Given the description of an element on the screen output the (x, y) to click on. 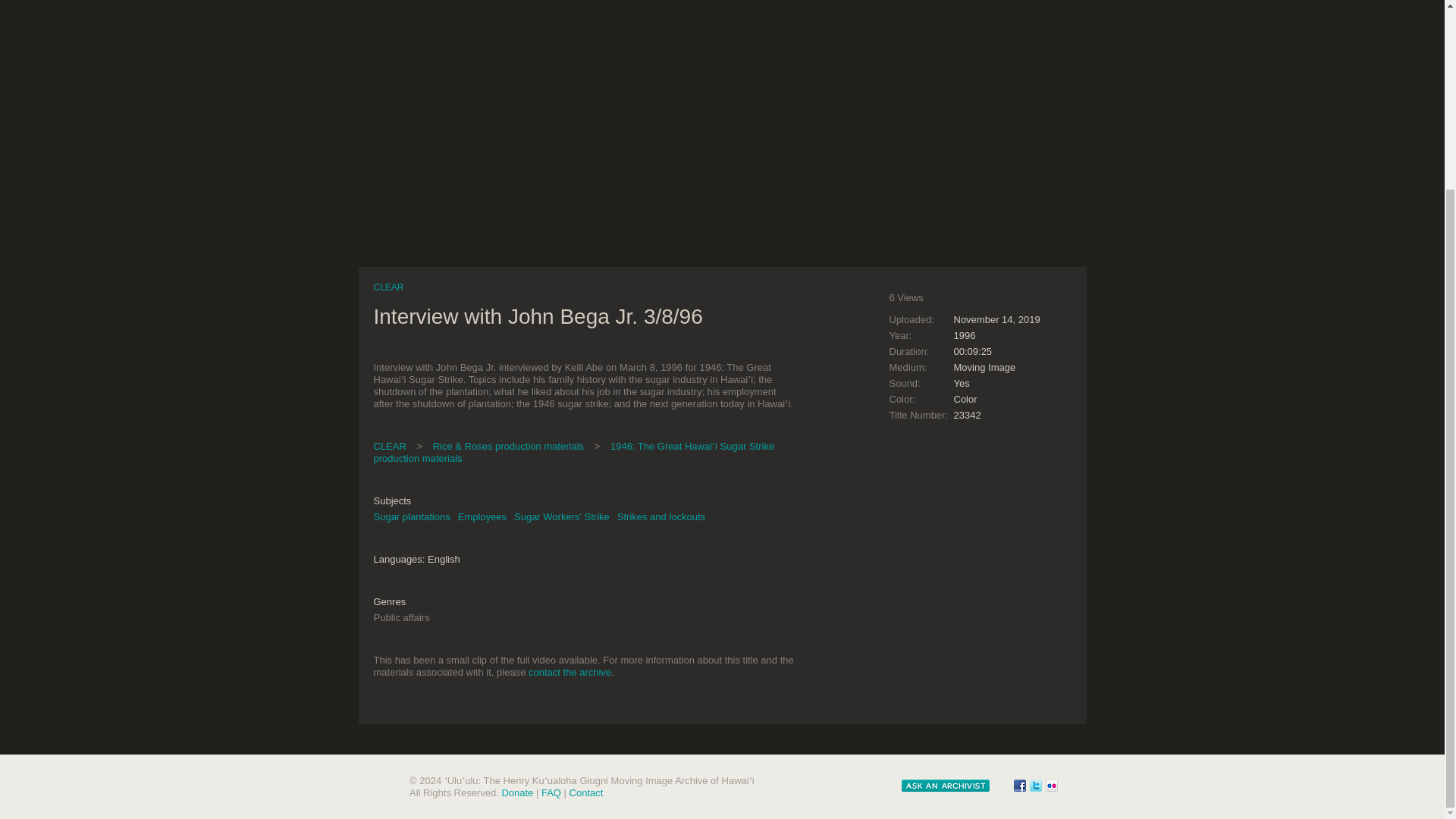
contact the archive (569, 672)
Donate (516, 792)
FAQ (550, 792)
Strikes and lockouts (660, 516)
Sugar plantations (410, 516)
CLEAR (387, 286)
CLEAR (389, 446)
Sugar Workers' Strike (561, 516)
Contact (586, 792)
Employees (482, 516)
